Given the description of an element on the screen output the (x, y) to click on. 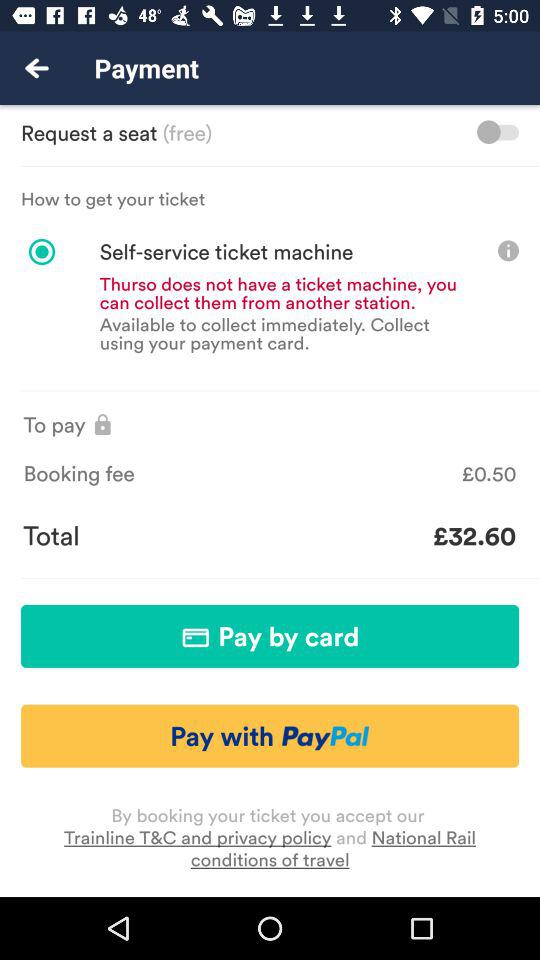
jump until self service ticket icon (198, 251)
